Given the description of an element on the screen output the (x, y) to click on. 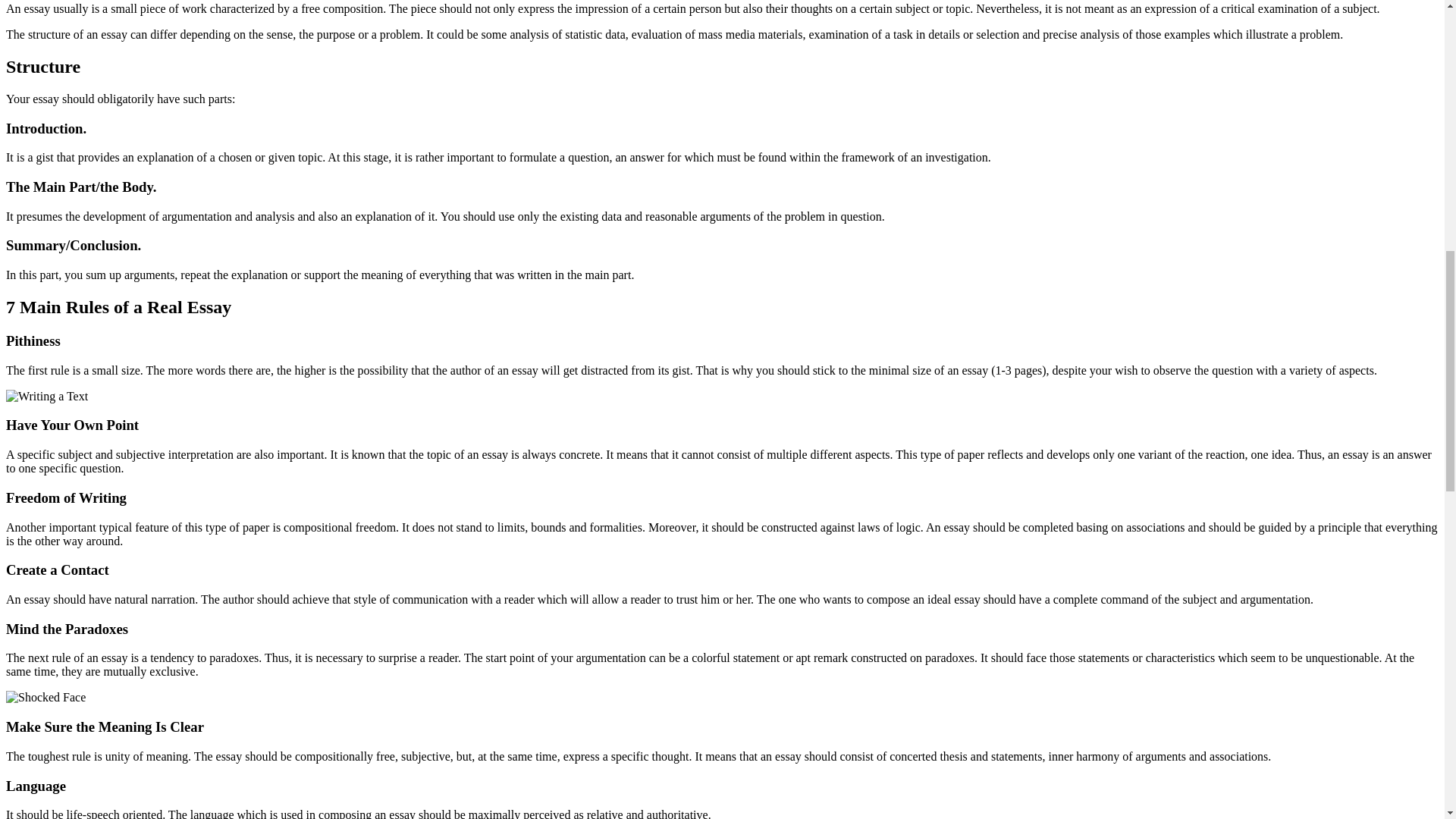
Shocked Face (45, 697)
Writing a Text (46, 396)
